Given the description of an element on the screen output the (x, y) to click on. 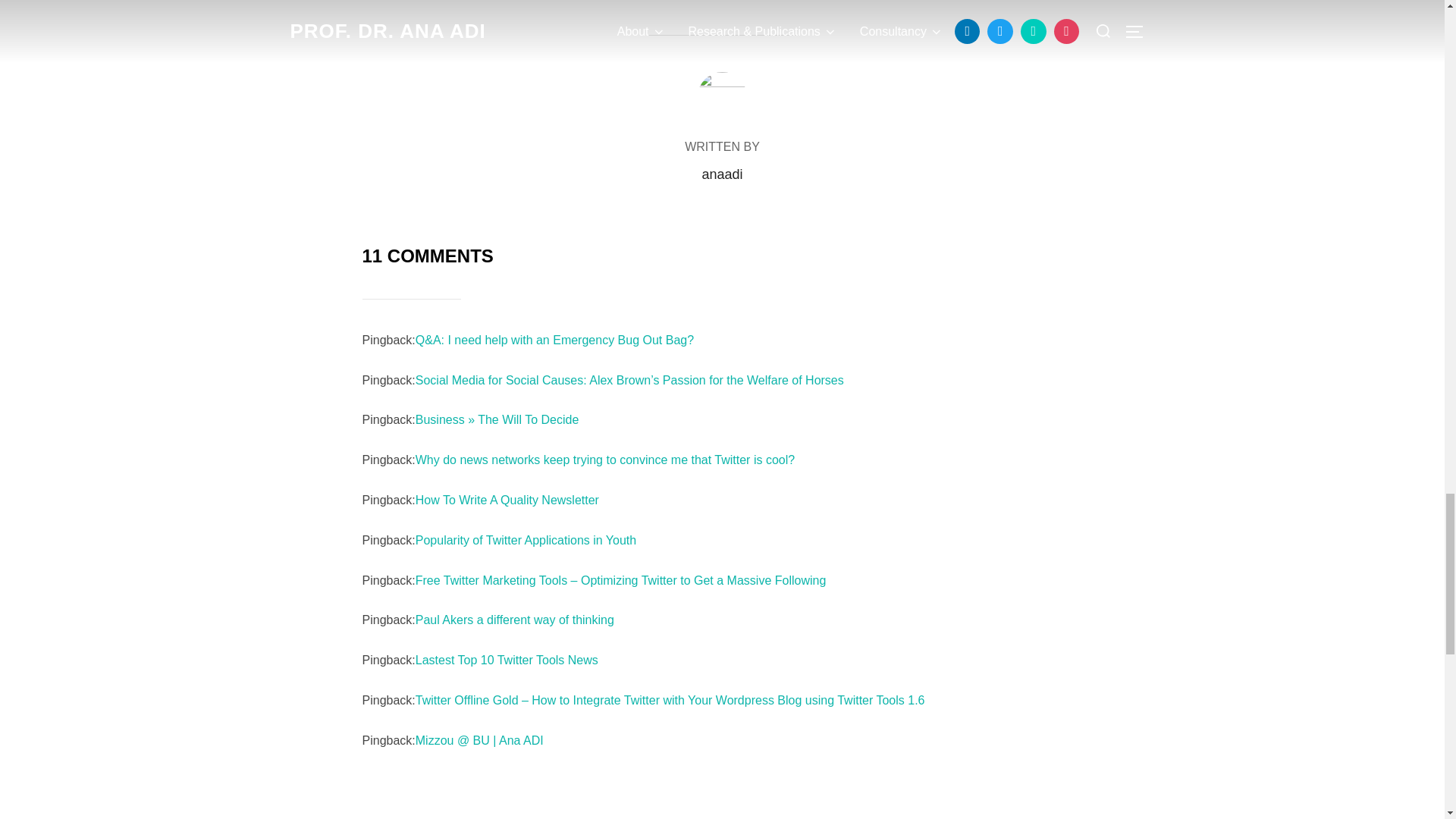
Posts by anaadi (721, 174)
